Given the description of an element on the screen output the (x, y) to click on. 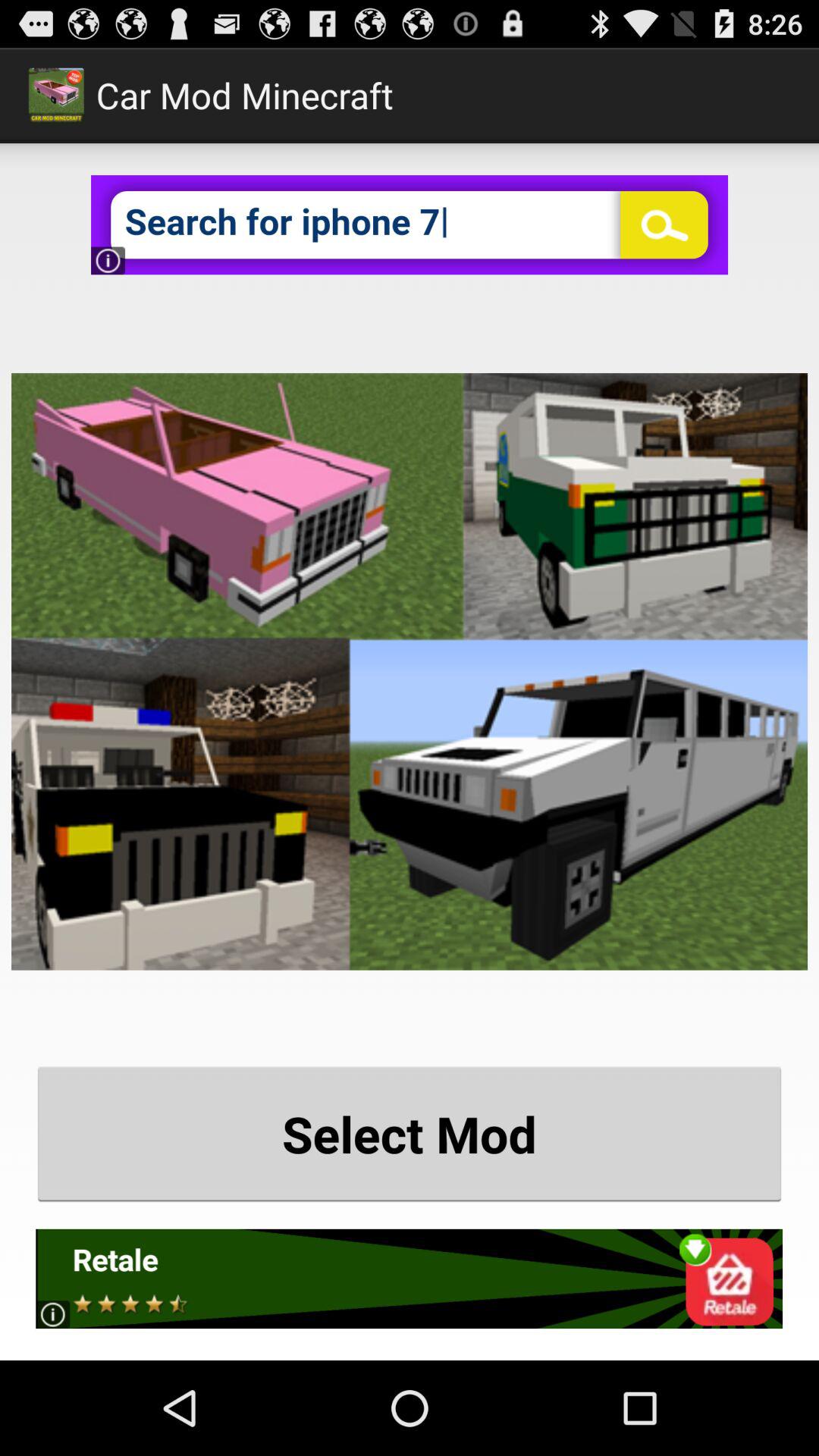
open advertisement (408, 1278)
